Given the description of an element on the screen output the (x, y) to click on. 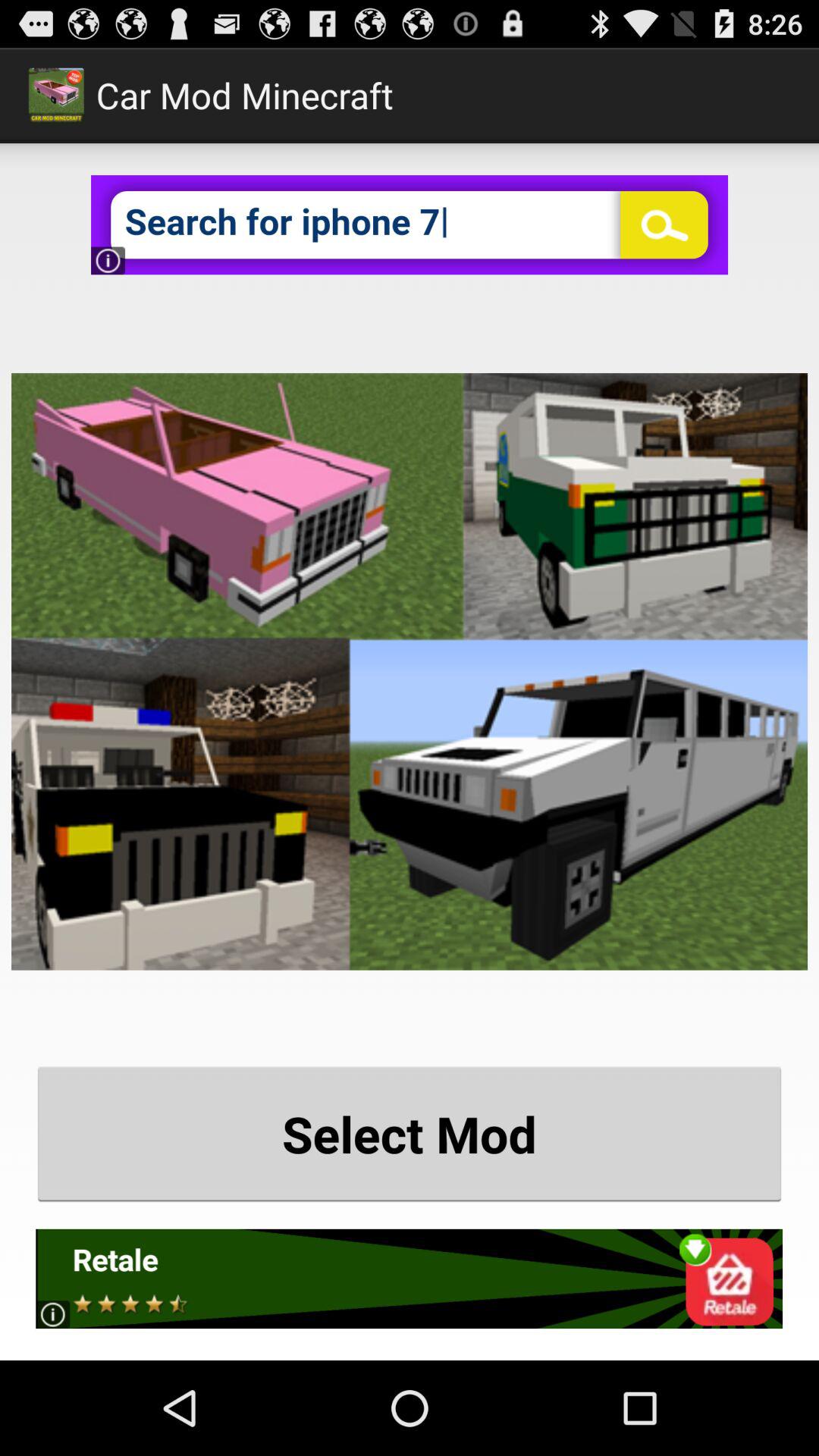
open advertisement (408, 1278)
